Given the description of an element on the screen output the (x, y) to click on. 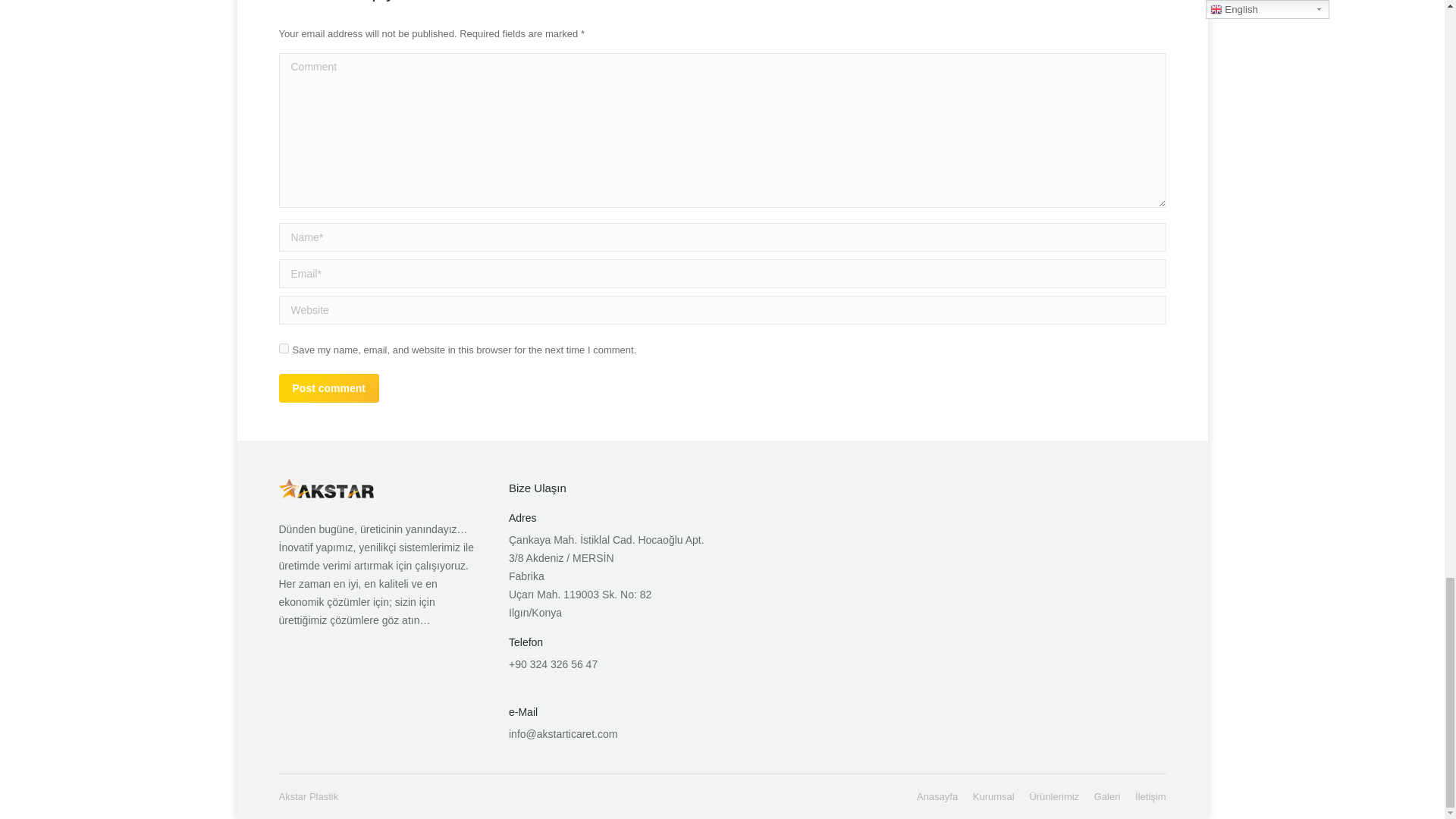
yes (283, 347)
